Given the description of an element on the screen output the (x, y) to click on. 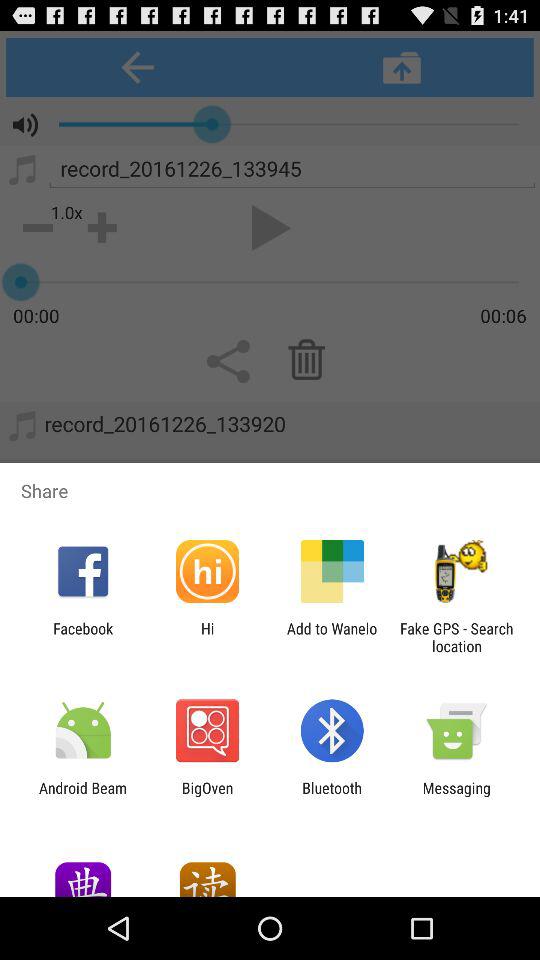
choose item to the left of add to wanelo item (207, 637)
